Given the description of an element on the screen output the (x, y) to click on. 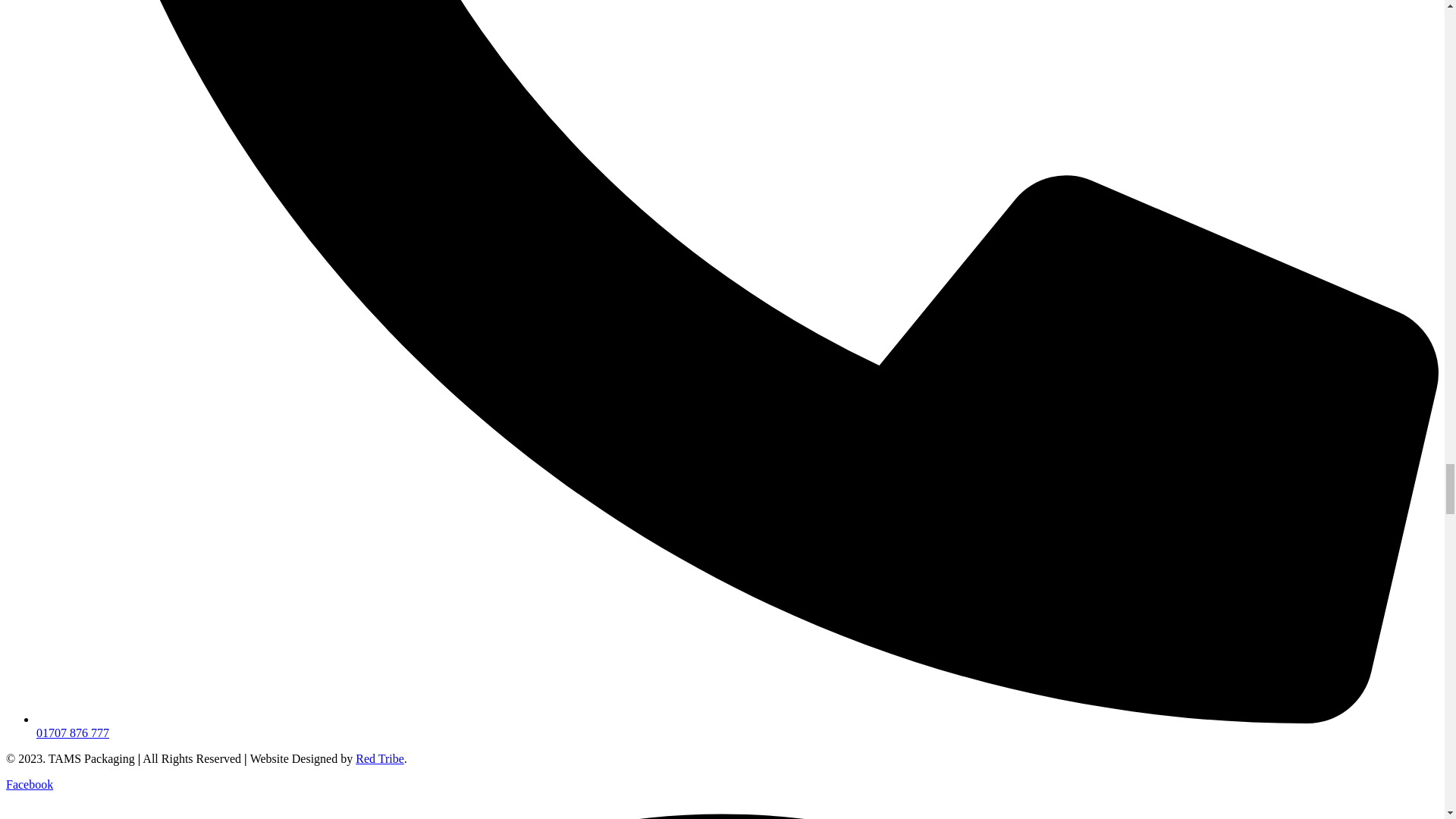
Red Tribe (379, 758)
